Given the description of an element on the screen output the (x, y) to click on. 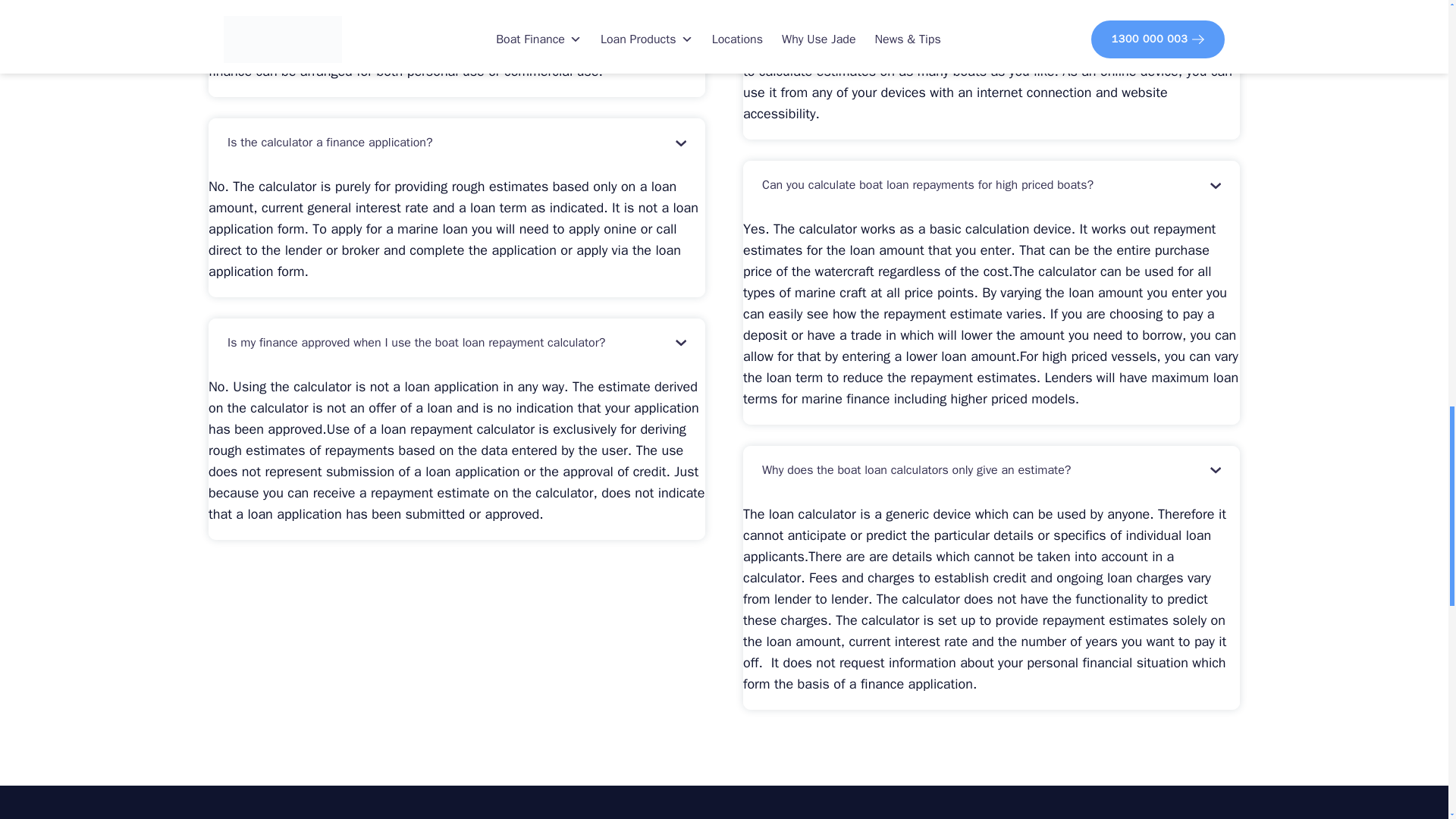
Why does the boat loan calculators only give an estimate? (991, 470)
Is there a charge to use the finance calculator boat? (991, 5)
What is a boat loan? (456, 5)
Is the calculator a finance application? (456, 142)
